Given the description of an element on the screen output the (x, y) to click on. 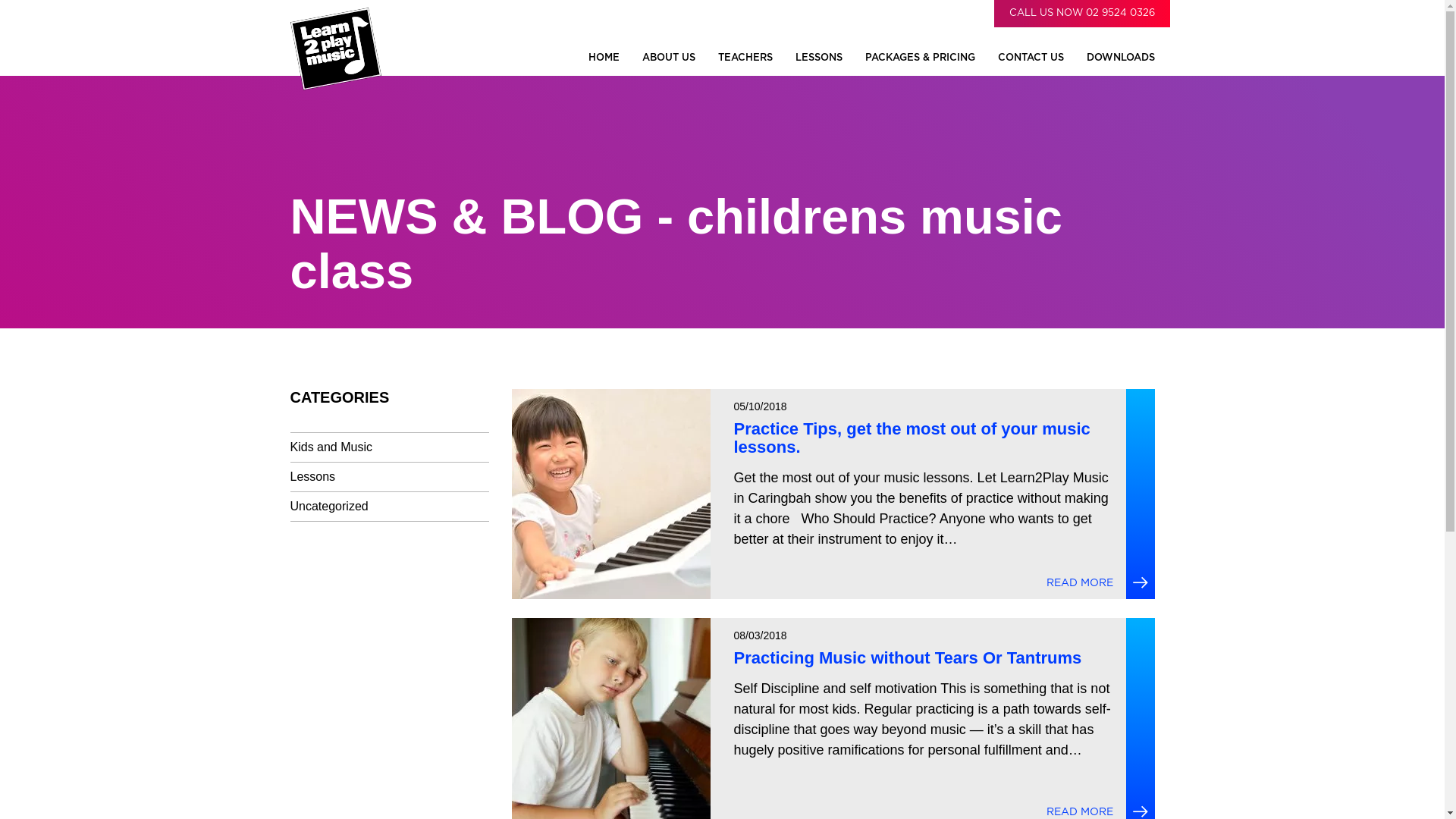
CALL US NOW 02 9524 0326 Element type: text (1081, 13)
CONTACT US Element type: text (1030, 57)
TEACHERS Element type: text (744, 57)
Uncategorized Element type: text (328, 506)
Kids and Music Element type: text (330, 447)
PACKAGES & PRICING Element type: text (919, 57)
Lessons Element type: text (312, 476)
HOME Element type: text (603, 57)
LESSONS Element type: text (817, 57)
ABOUT US Element type: text (667, 57)
READ MORE Element type: text (1079, 583)
DOWNLOADS Element type: text (1119, 57)
